Given the description of an element on the screen output the (x, y) to click on. 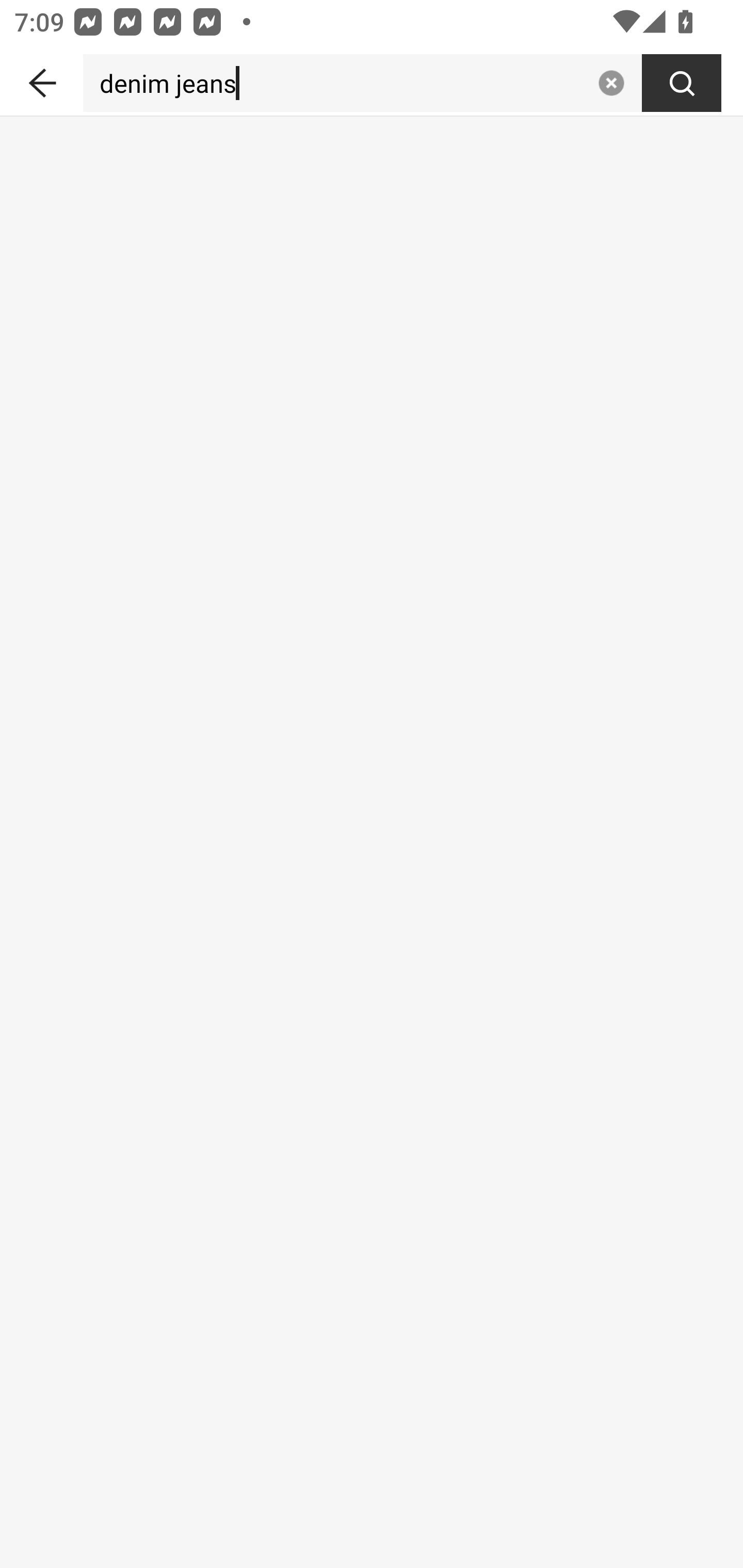
BACK (41, 79)
denim jeans (336, 82)
Clear (610, 82)
